Given the description of an element on the screen output the (x, y) to click on. 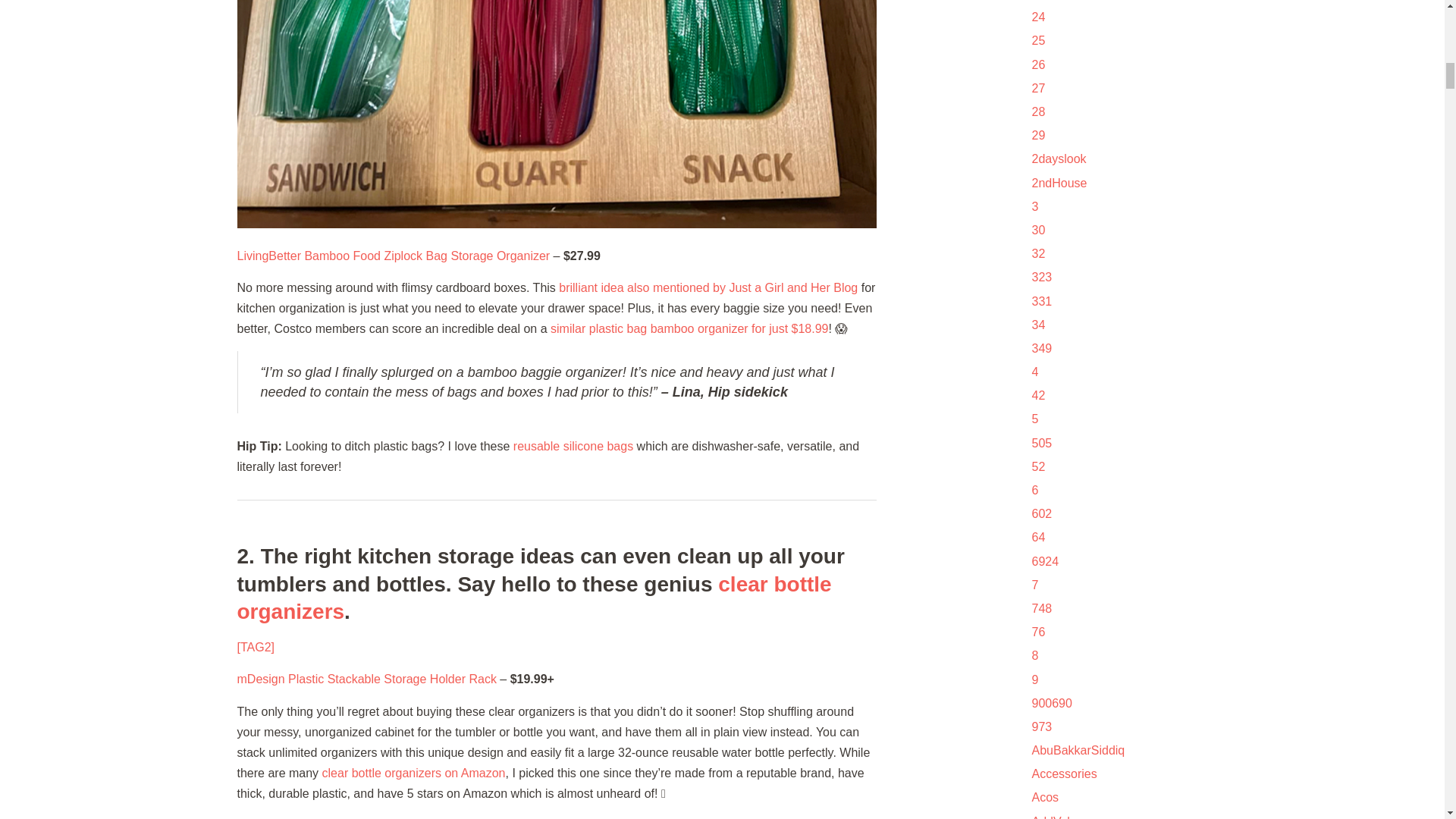
brilliant idea also mentioned by Just a Girl and Her Blog (708, 287)
clear bottle organizers (533, 596)
reusable silicone bags (573, 445)
mDesign Plastic Stackable Storage Holder Rack (365, 678)
clear bottle organizers on Amazon (413, 772)
LivingBetter Bamboo Food Ziplock Bag Storage Organizer (392, 255)
